Given the description of an element on the screen output the (x, y) to click on. 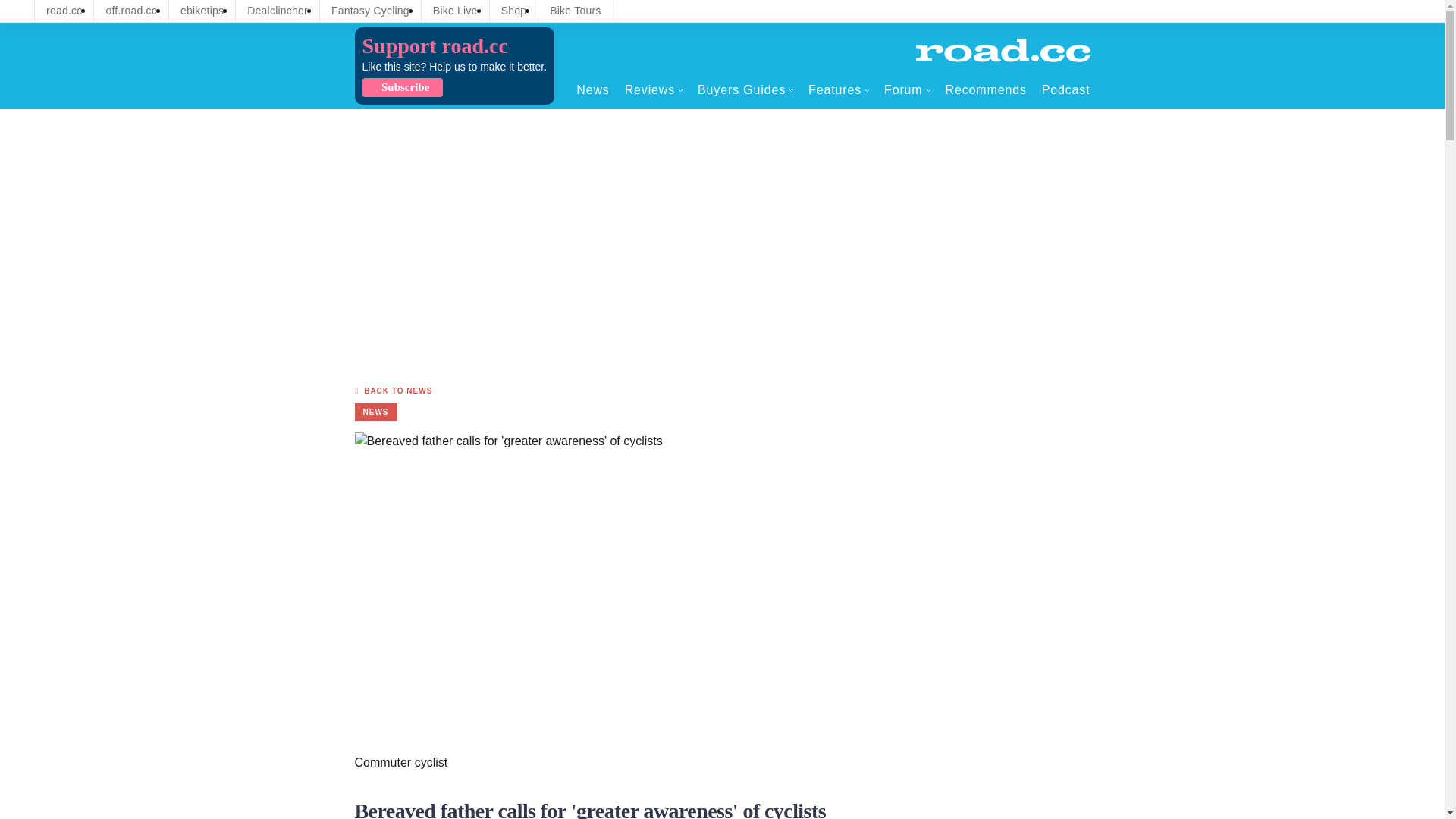
Home (1002, 50)
ebiketips (201, 11)
Bike Tours (574, 11)
Dealclincher (276, 11)
Reviews (653, 89)
road.cc (63, 11)
Subscribe (402, 87)
Bike Live (455, 11)
Fantasy Cycling (370, 11)
off.road.cc (131, 11)
Shop (513, 11)
